Given the description of an element on the screen output the (x, y) to click on. 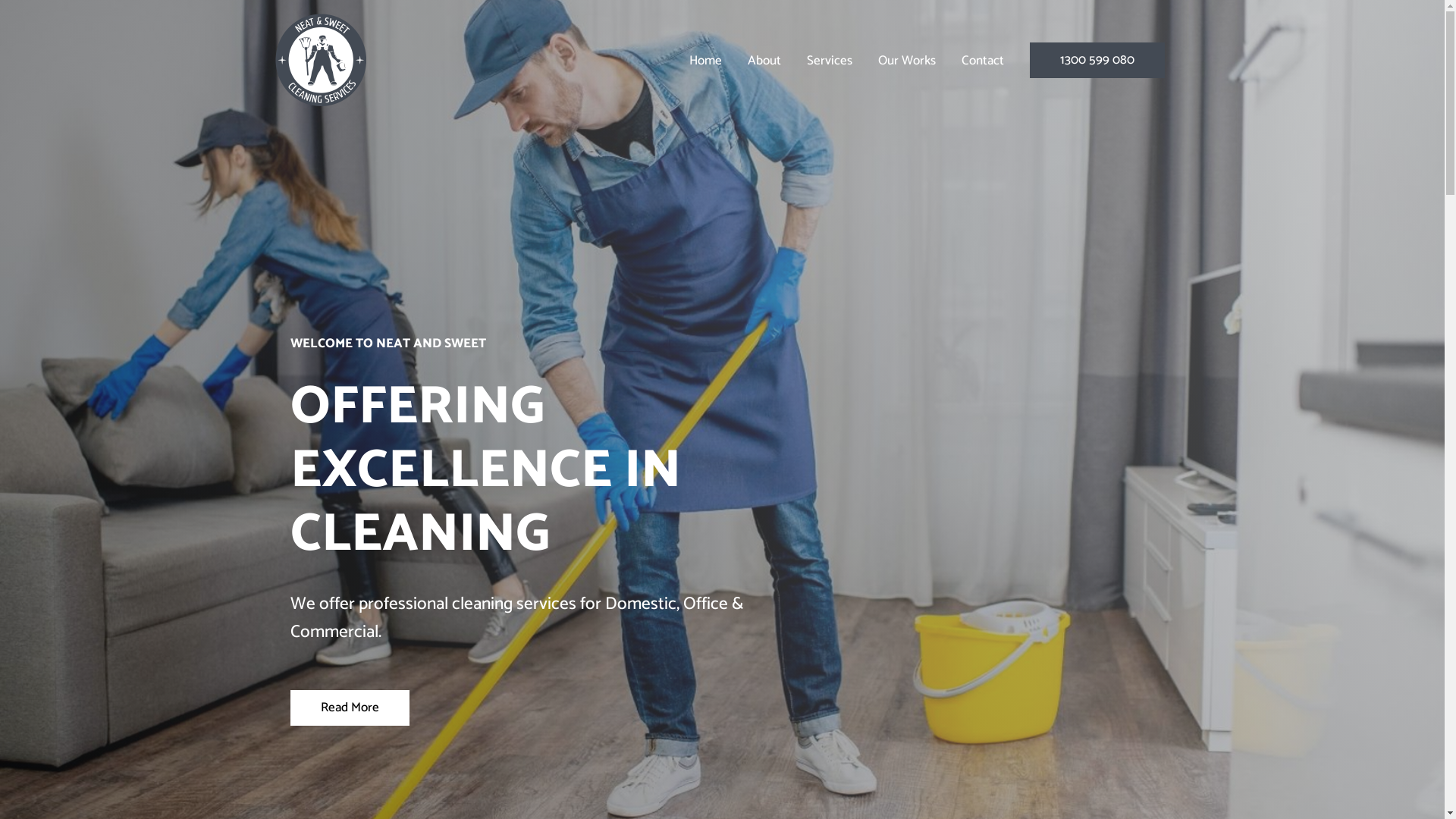
Our Works Element type: text (905, 60)
Contact Element type: text (981, 60)
Read More Element type: text (348, 707)
Services Element type: text (828, 60)
About Element type: text (763, 60)
1300 599 080 Element type: text (1096, 60)
Home Element type: text (705, 60)
